Given the description of an element on the screen output the (x, y) to click on. 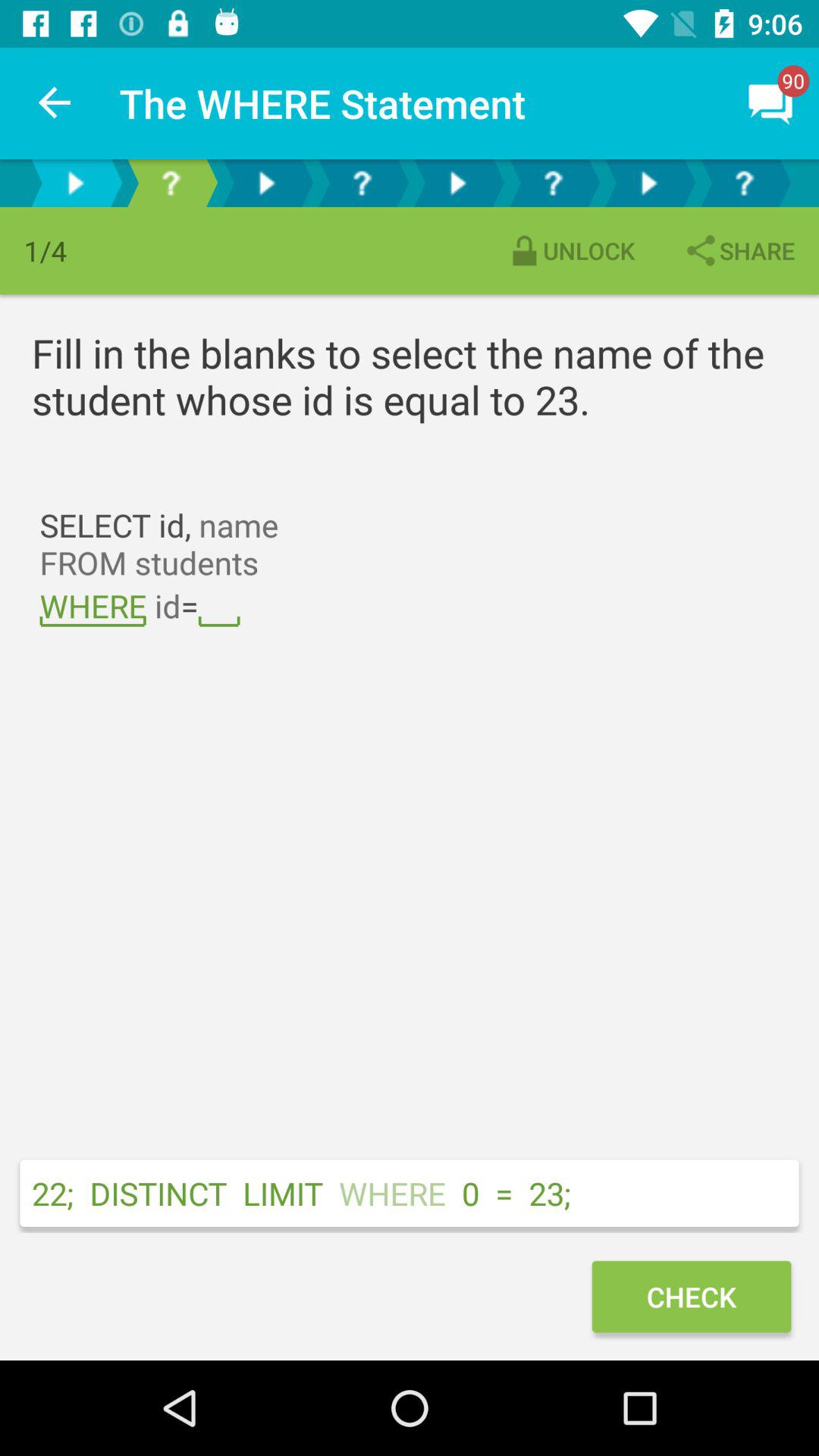
proceed to tab (361, 183)
